Given the description of an element on the screen output the (x, y) to click on. 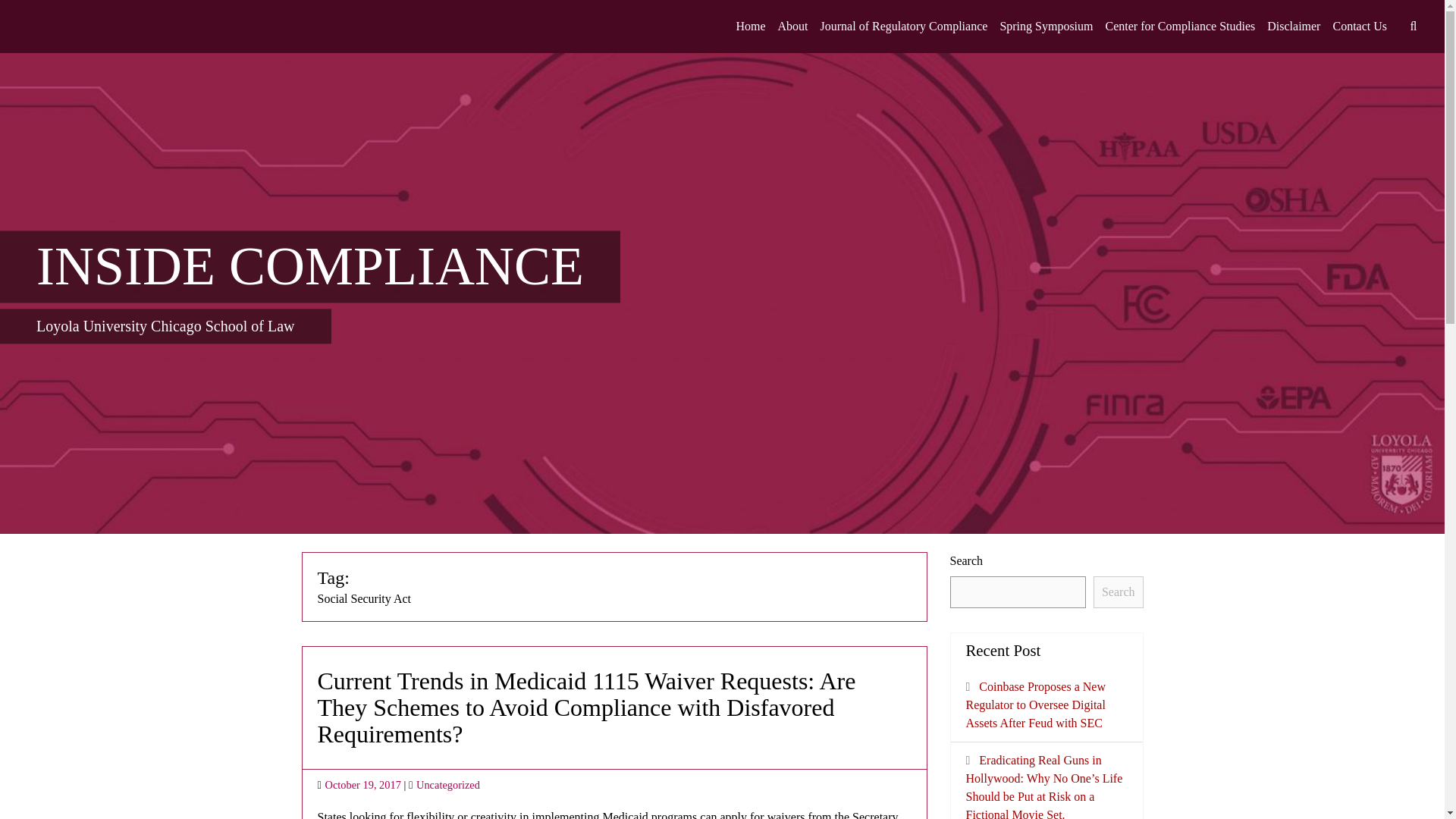
Journal of Regulatory Compliance (904, 26)
Uncategorized (448, 784)
Center for Compliance Studies (1180, 26)
About (792, 26)
Disclaimer (1293, 26)
About (792, 26)
Contact Us (1359, 26)
Journal of Regulatory Compliance (904, 26)
Center for Compliance Studies (1180, 26)
